Given the description of an element on the screen output the (x, y) to click on. 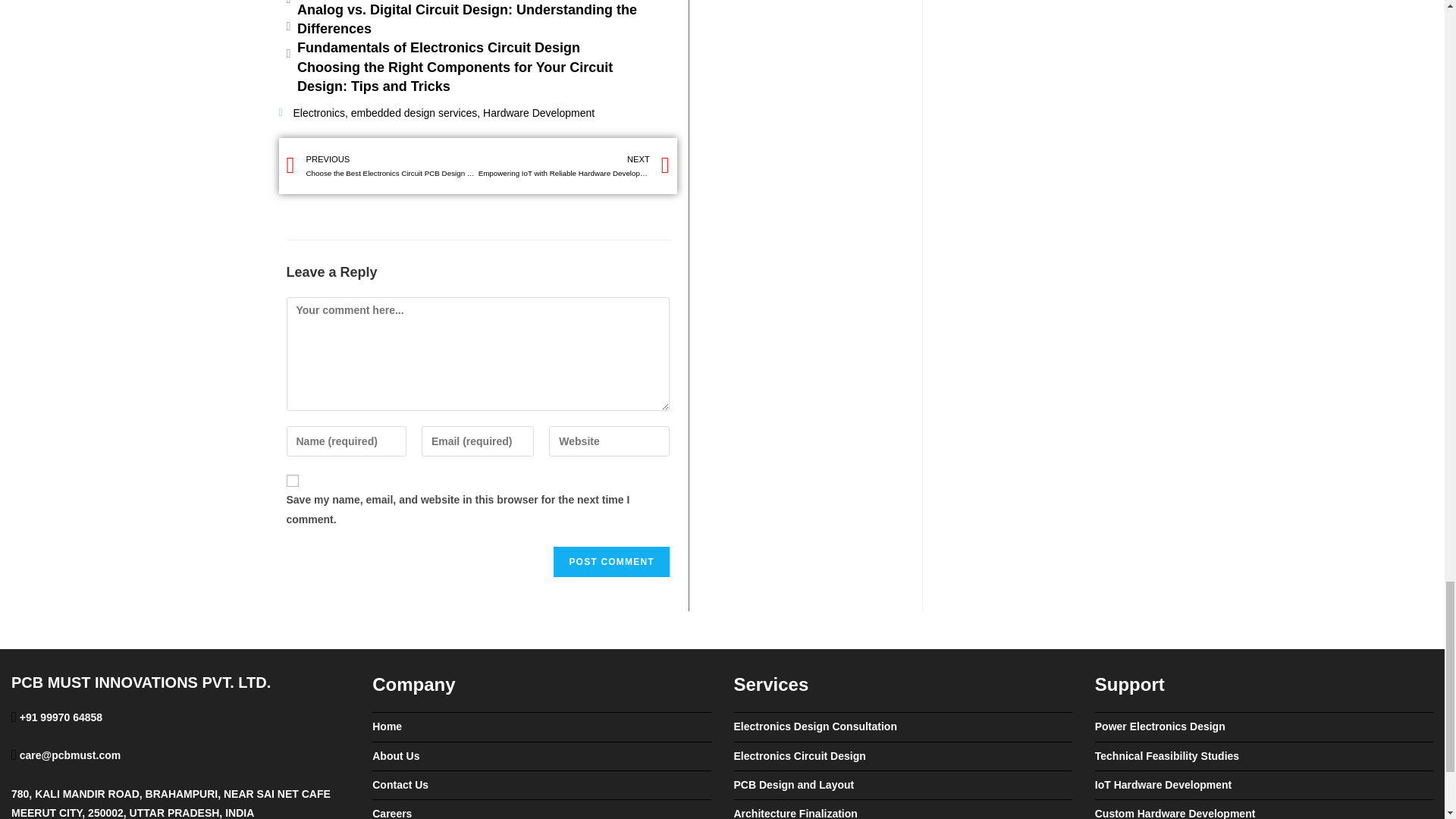
Post Comment (610, 562)
yes (292, 480)
